Given the description of an element on the screen output the (x, y) to click on. 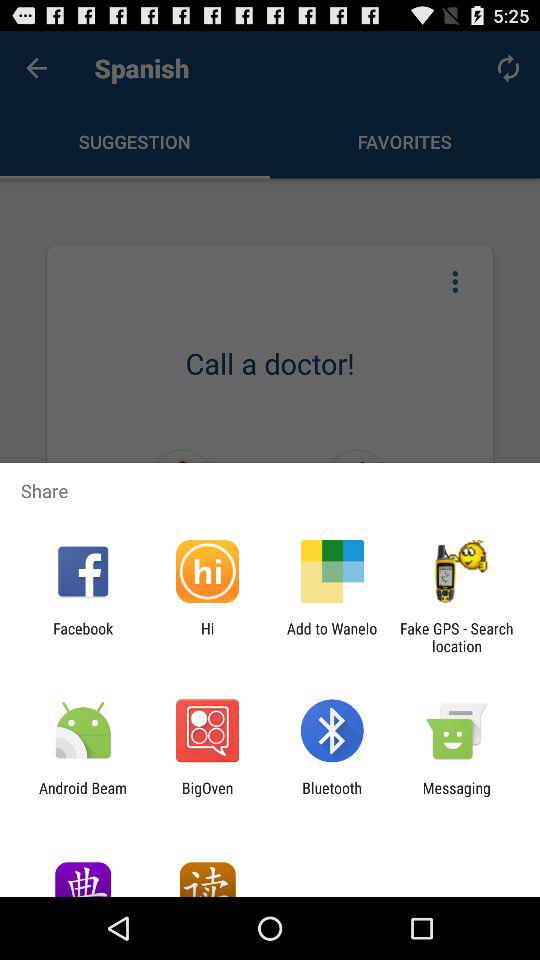
click app to the left of the fake gps search app (331, 637)
